Given the description of an element on the screen output the (x, y) to click on. 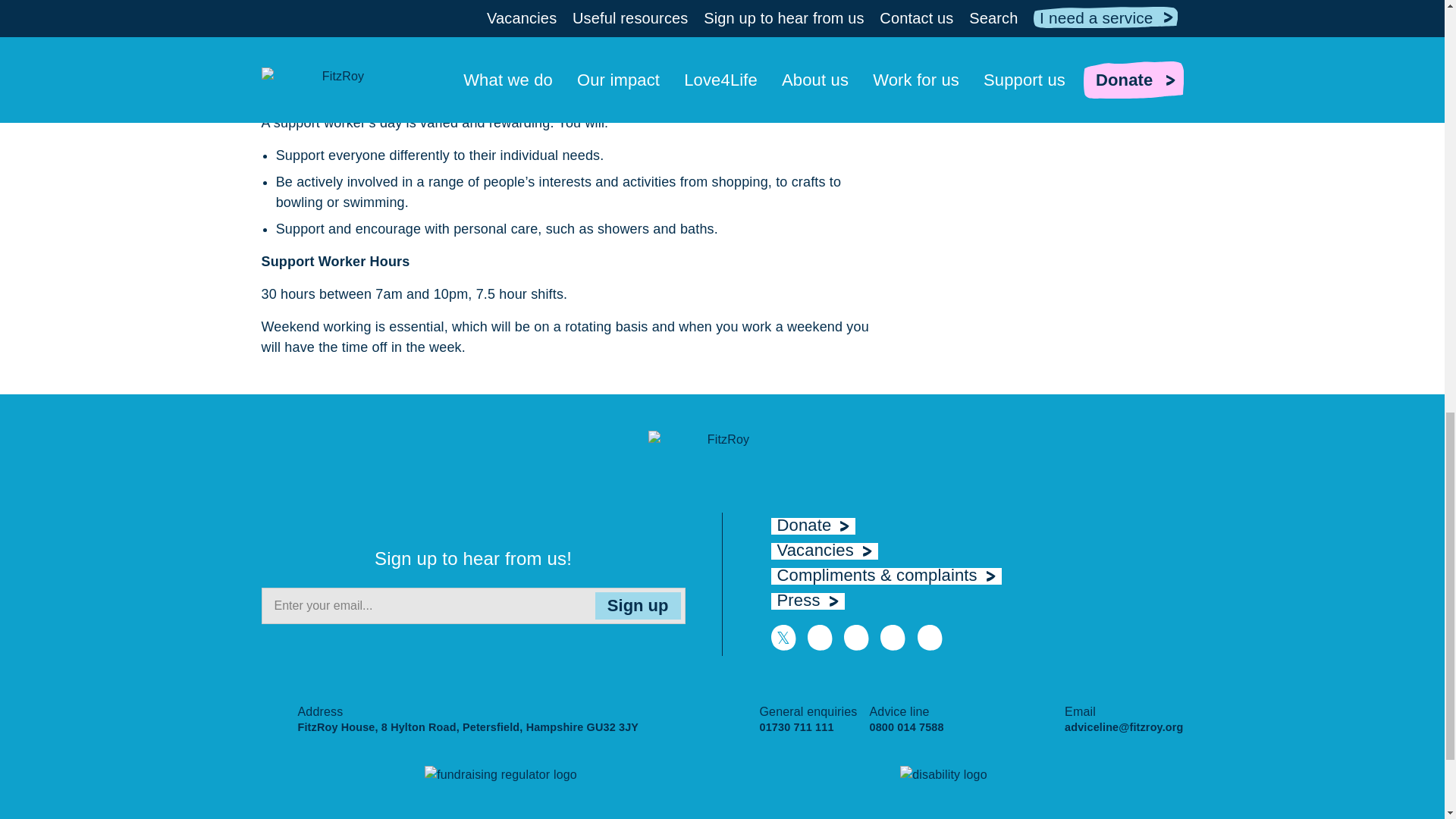
Twitter (783, 637)
Youtube (929, 637)
Instagram (856, 637)
Facebook (819, 637)
Linkedin (892, 637)
